Given the description of an element on the screen output the (x, y) to click on. 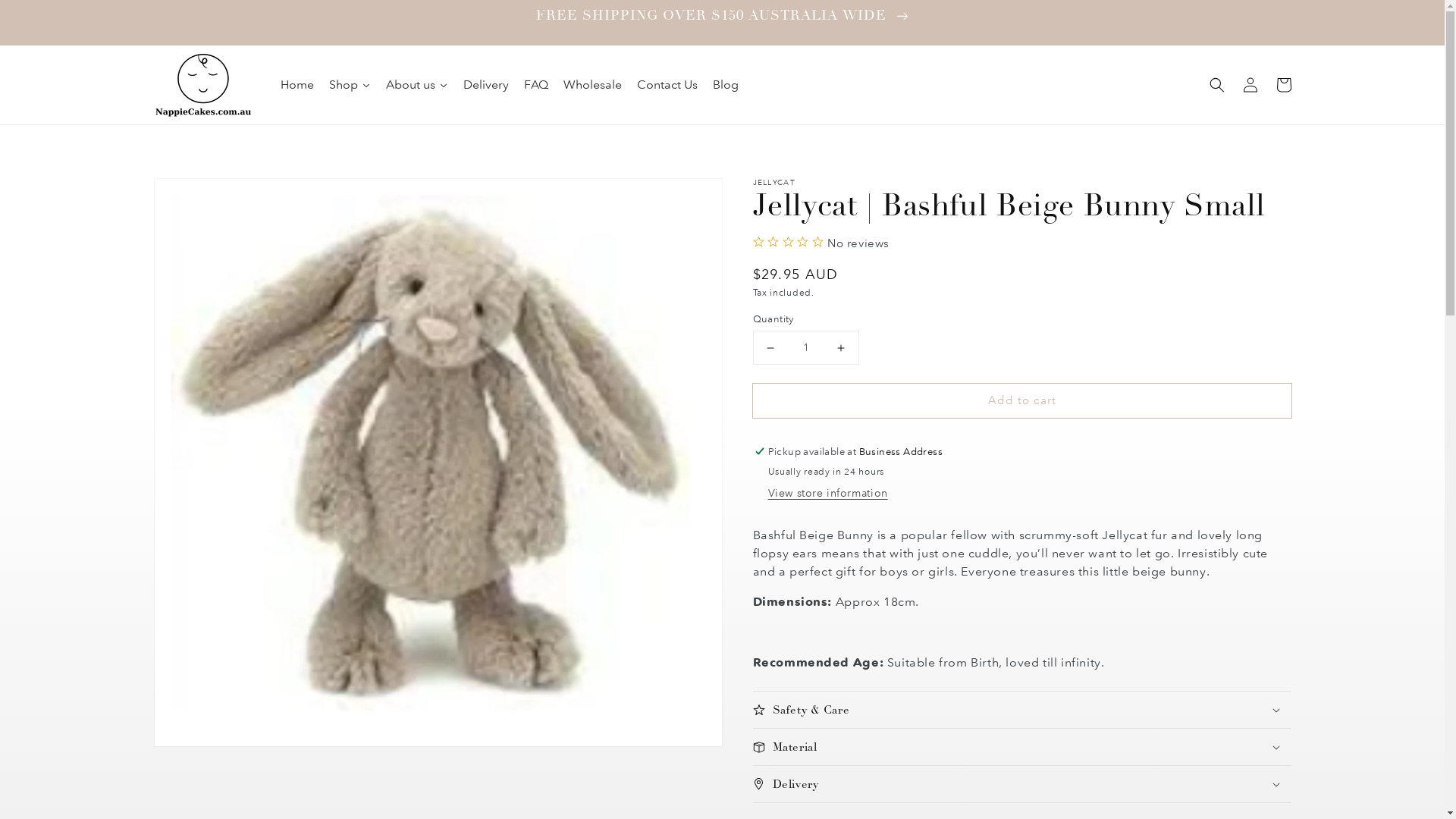
FREE SHIPPING OVER $150 AUSTRALIA WIDE Element type: text (722, 22)
Delivery Element type: text (485, 84)
Blog Element type: text (725, 84)
Add to cart Element type: text (1021, 400)
Decrease quantity for Jellycat | Bashful Beige Bunny Small Element type: text (770, 347)
Wholesale Element type: text (592, 84)
Shop Element type: text (349, 84)
Skip to product information Element type: text (198, 194)
View store information Element type: text (827, 493)
Increase quantity for Jellycat | Bashful Beige Bunny Small Element type: text (840, 347)
FAQ Element type: text (535, 84)
Home Element type: text (297, 84)
Open media 1 in gallery view Element type: text (437, 462)
Cart Element type: text (1282, 84)
Contact Us Element type: text (667, 84)
About us Element type: text (416, 84)
Log in Element type: text (1249, 84)
